Given the description of an element on the screen output the (x, y) to click on. 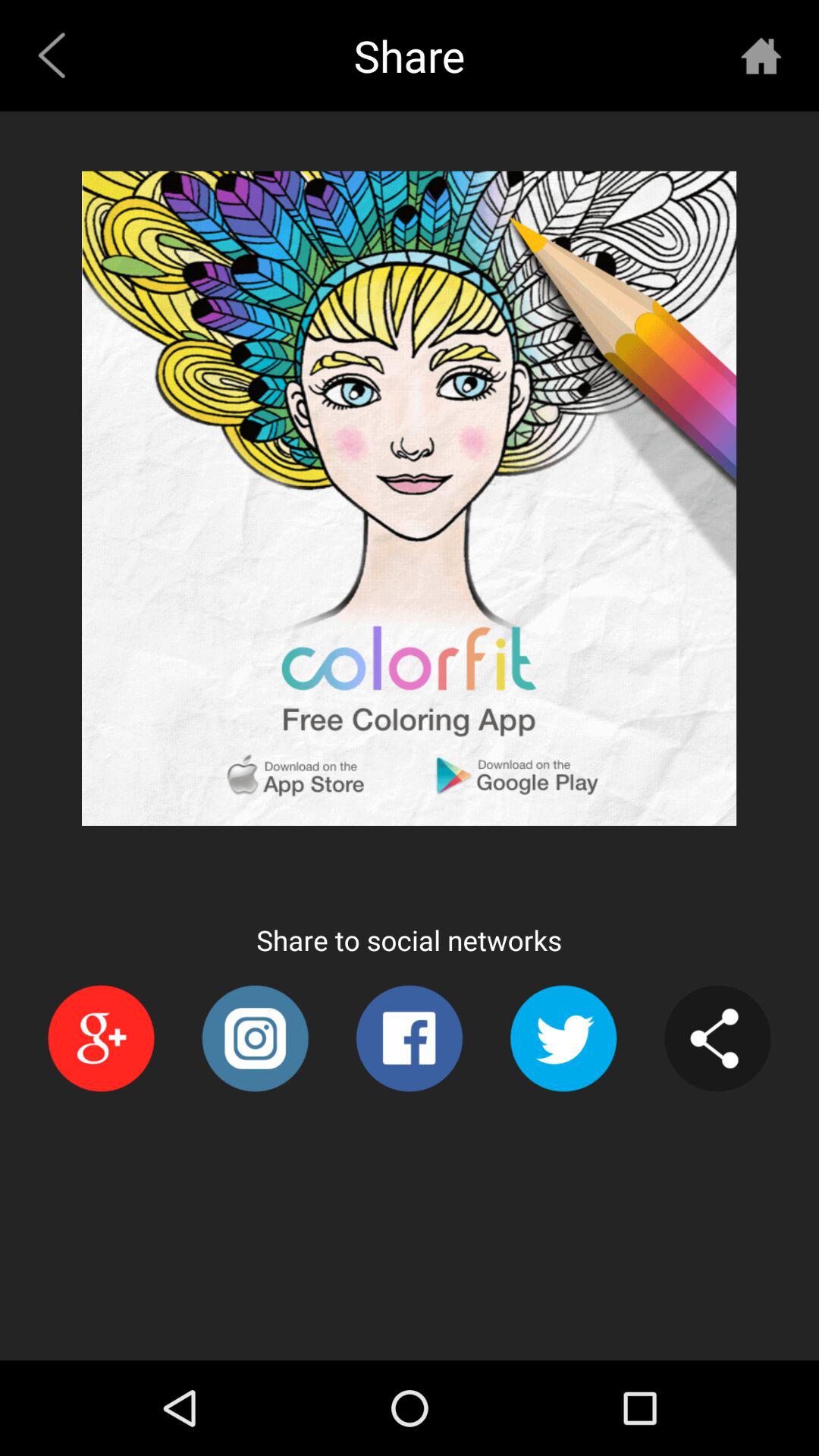
launch the item at the bottom (409, 1038)
